Given the description of an element on the screen output the (x, y) to click on. 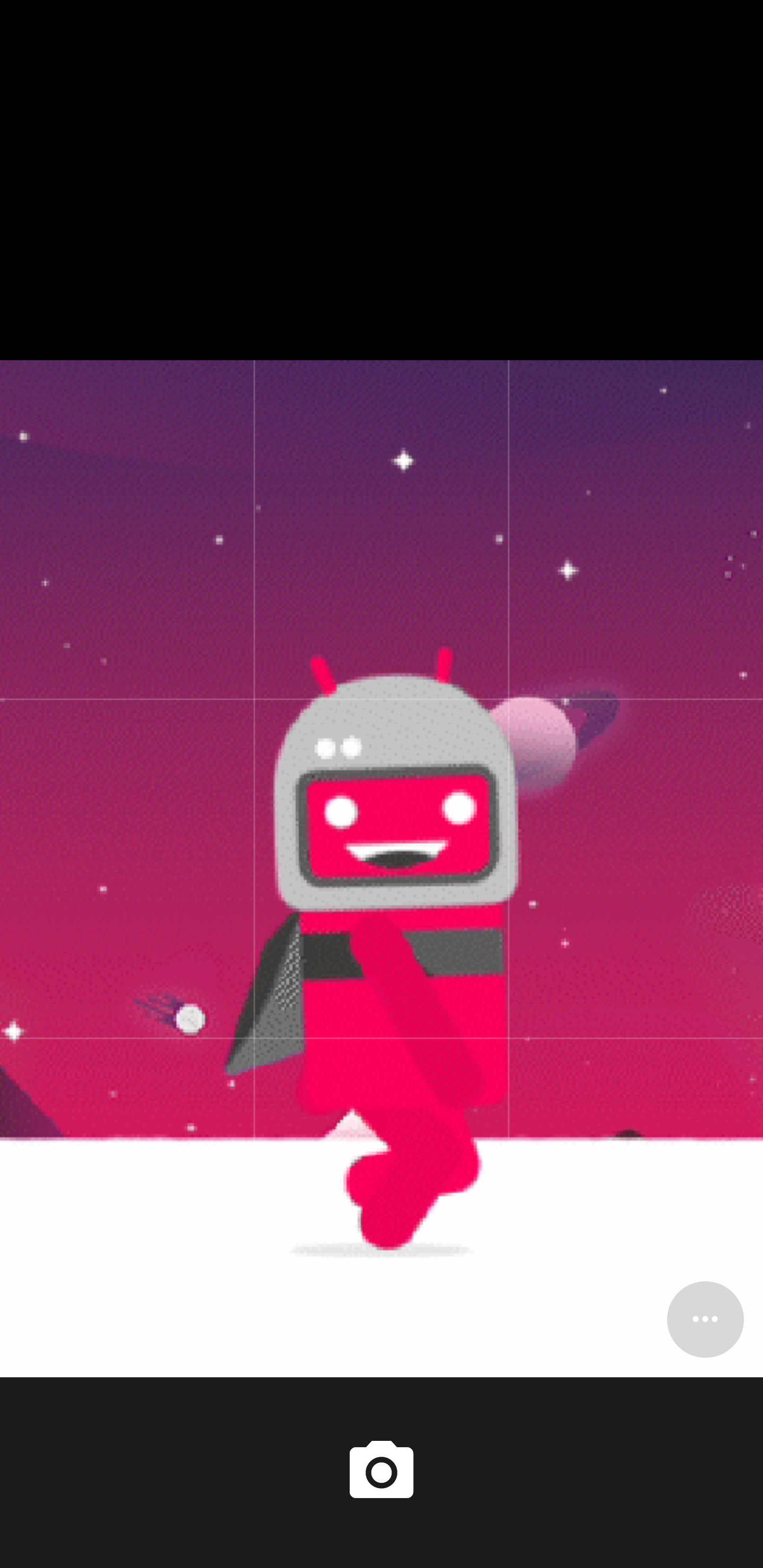
Options (704, 1319)
Shutter (381, 1472)
